Given the description of an element on the screen output the (x, y) to click on. 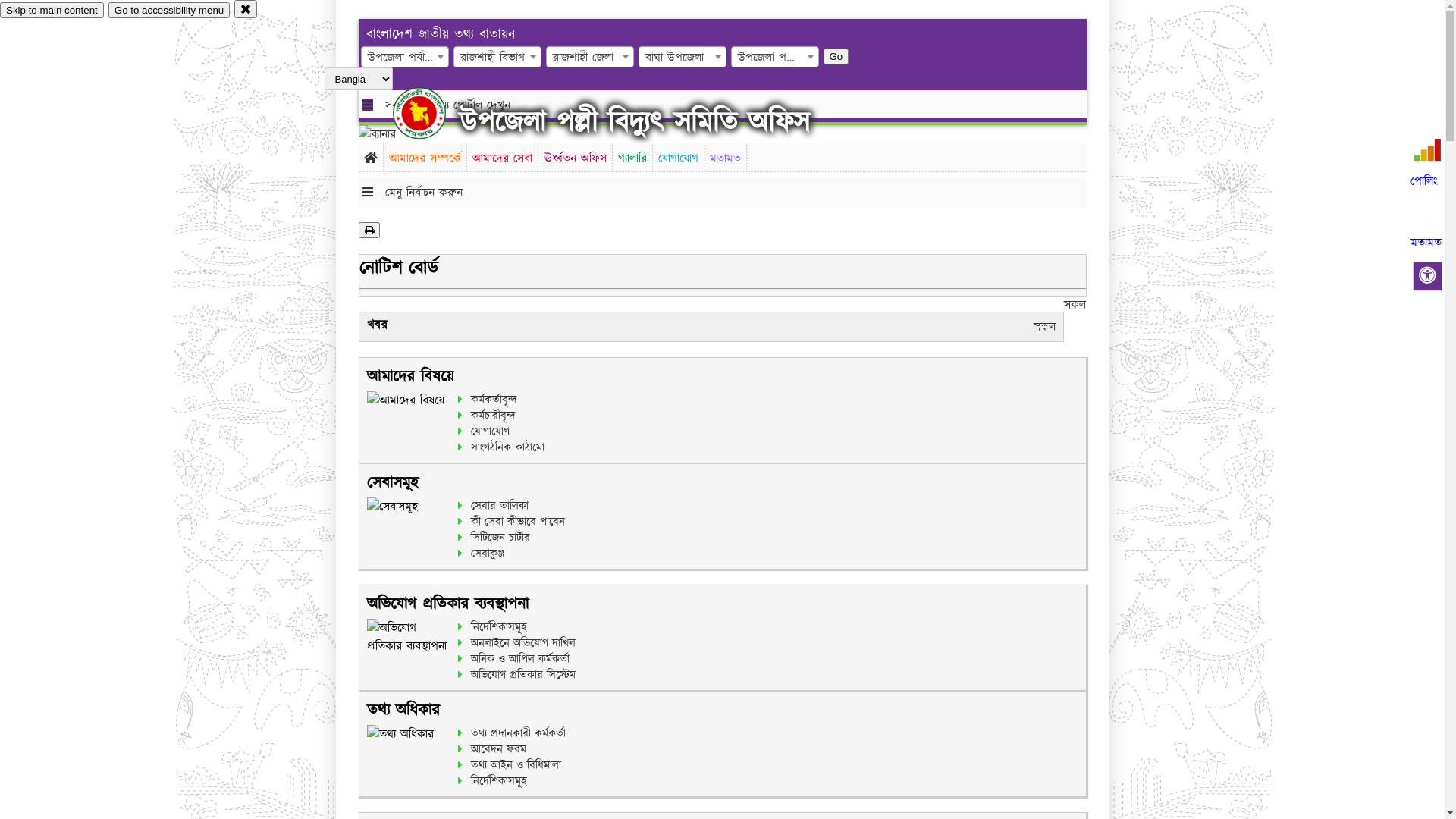
Go Element type: text (836, 56)
Skip to main content Element type: text (51, 10)
Go to accessibility menu Element type: text (168, 10)
close Element type: hover (245, 9)

                
             Element type: hover (431, 112)
